Given the description of an element on the screen output the (x, y) to click on. 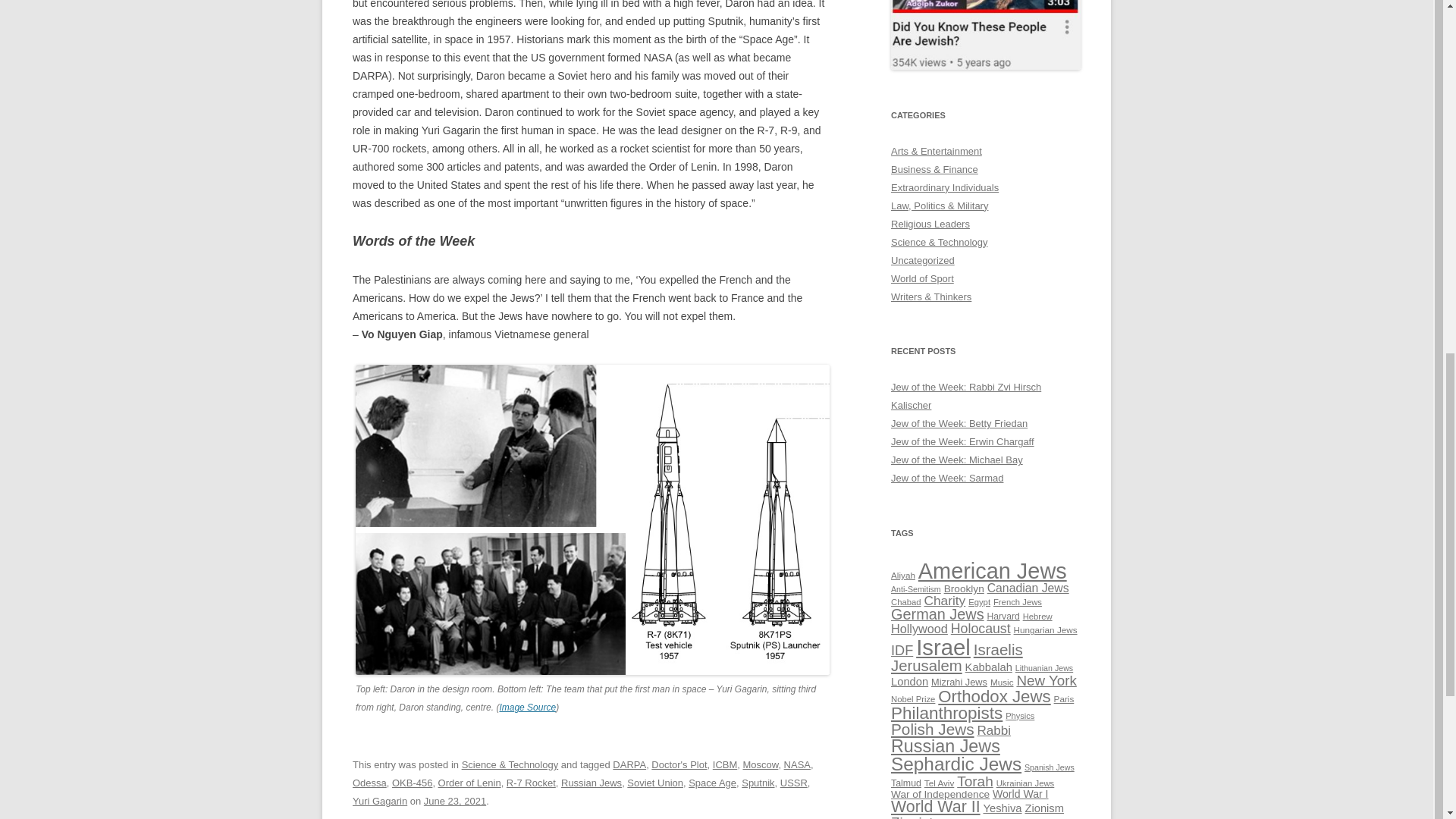
OKB-456 (411, 782)
World of Sport (922, 278)
Order of Lenin (469, 782)
Sputnik (757, 782)
DARPA (629, 764)
Doctor's Plot (678, 764)
Russian Jews (590, 782)
ICBM (724, 764)
Religious Leaders (930, 224)
USSR (794, 782)
June 23, 2021 (454, 800)
Image Source (527, 706)
Uncategorized (923, 260)
Moscow (759, 764)
Space Age (712, 782)
